Given the description of an element on the screen output the (x, y) to click on. 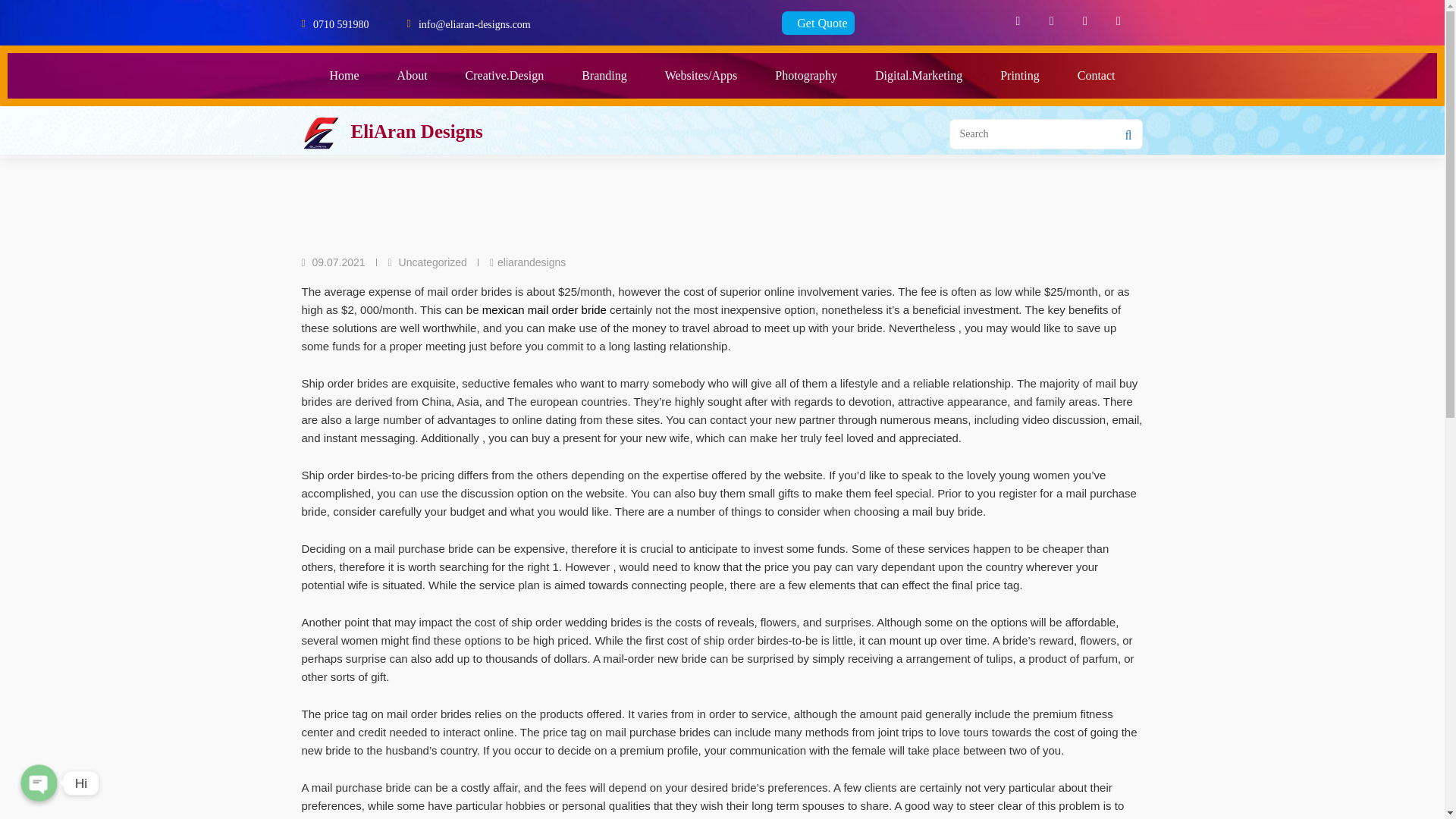
Branding (604, 75)
Contact (1096, 75)
0710 591980 (341, 23)
Printing (1019, 75)
Digital.Marketing (918, 75)
Photography (805, 75)
Creative.Design (504, 75)
EliAran Designs (415, 131)
Home (344, 75)
Get Quote (817, 22)
About (412, 75)
